Given the description of an element on the screen output the (x, y) to click on. 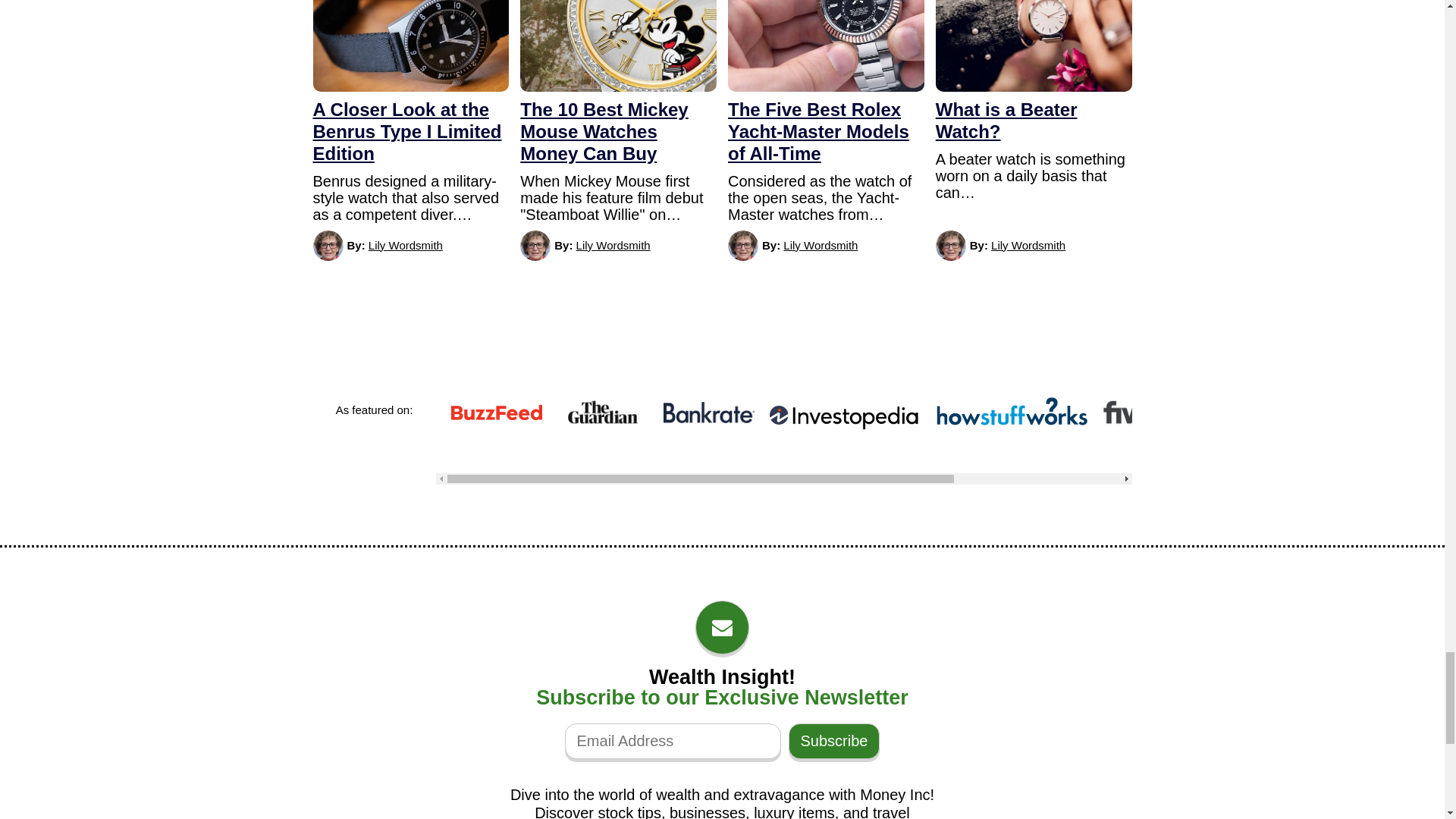
Subscribe (834, 741)
